Given the description of an element on the screen output the (x, y) to click on. 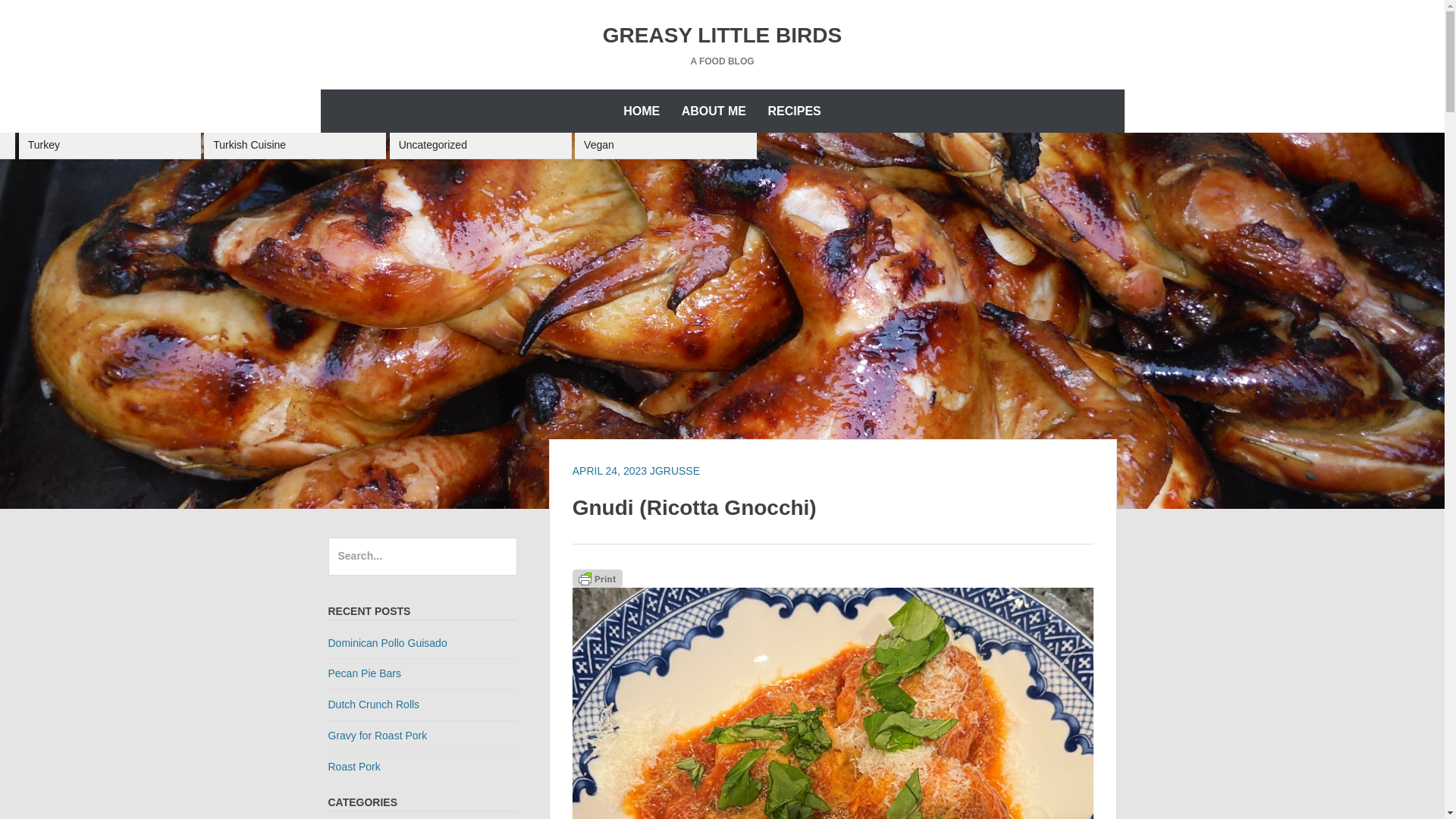
GREASY LITTLE BIRDS (721, 34)
ABOUT ME (713, 111)
HOME (641, 111)
Search for: (421, 556)
RECIPES (793, 111)
